Given the description of an element on the screen output the (x, y) to click on. 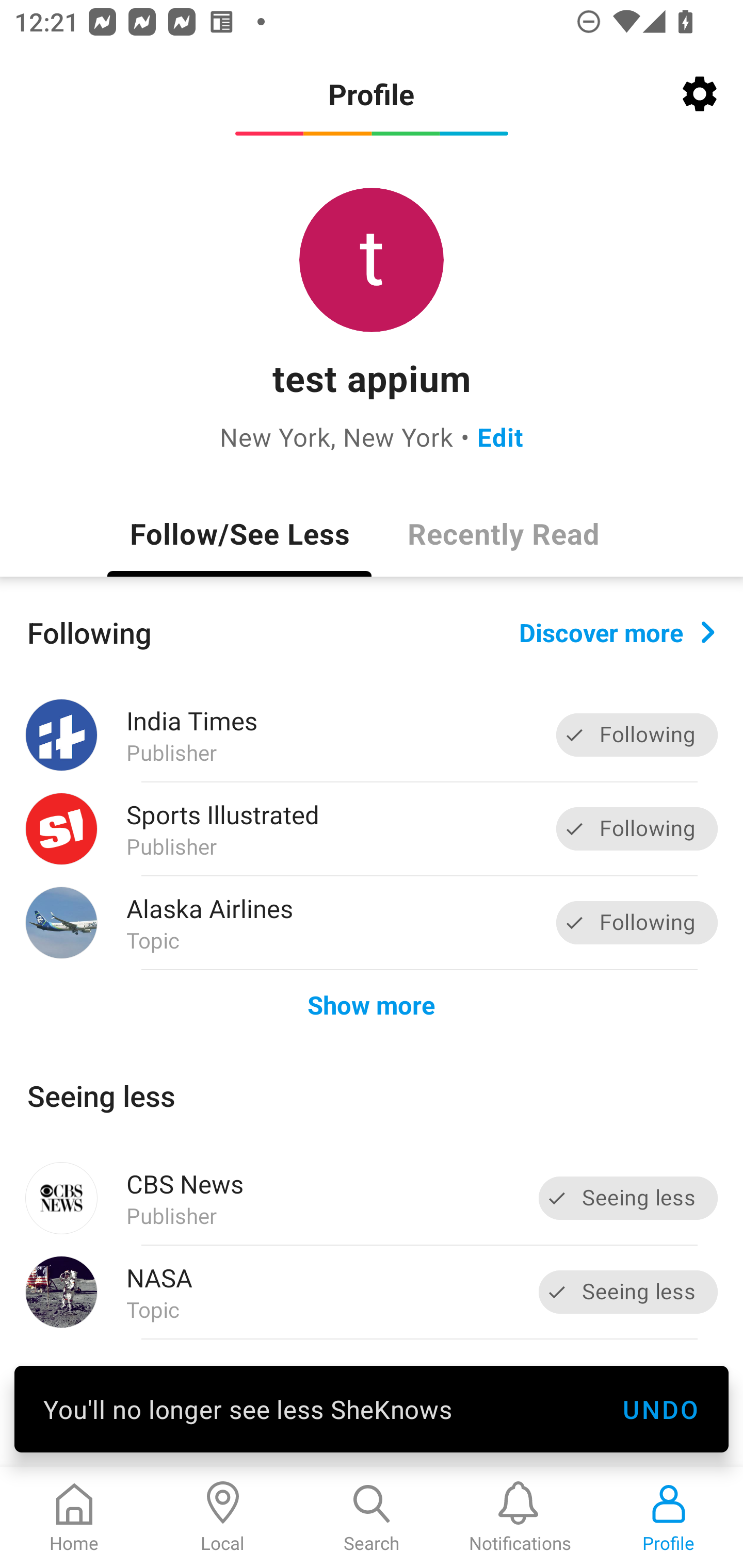
Settings (699, 93)
Edit (500, 436)
Recently Read (503, 533)
Discover more (617, 631)
India Times Publisher Following (371, 735)
Following (636, 735)
Sports Illustrated Publisher Following (371, 829)
Following (636, 828)
Alaska Airlines Topic Following (371, 922)
Following (636, 922)
Show more (371, 1004)
CBS News Publisher Seeing less (371, 1197)
Seeing less (627, 1197)
NASA Topic Seeing less (371, 1291)
Seeing less (627, 1291)
UNDO (660, 1408)
Home (74, 1517)
Local (222, 1517)
Search (371, 1517)
Notifications (519, 1517)
